Given the description of an element on the screen output the (x, y) to click on. 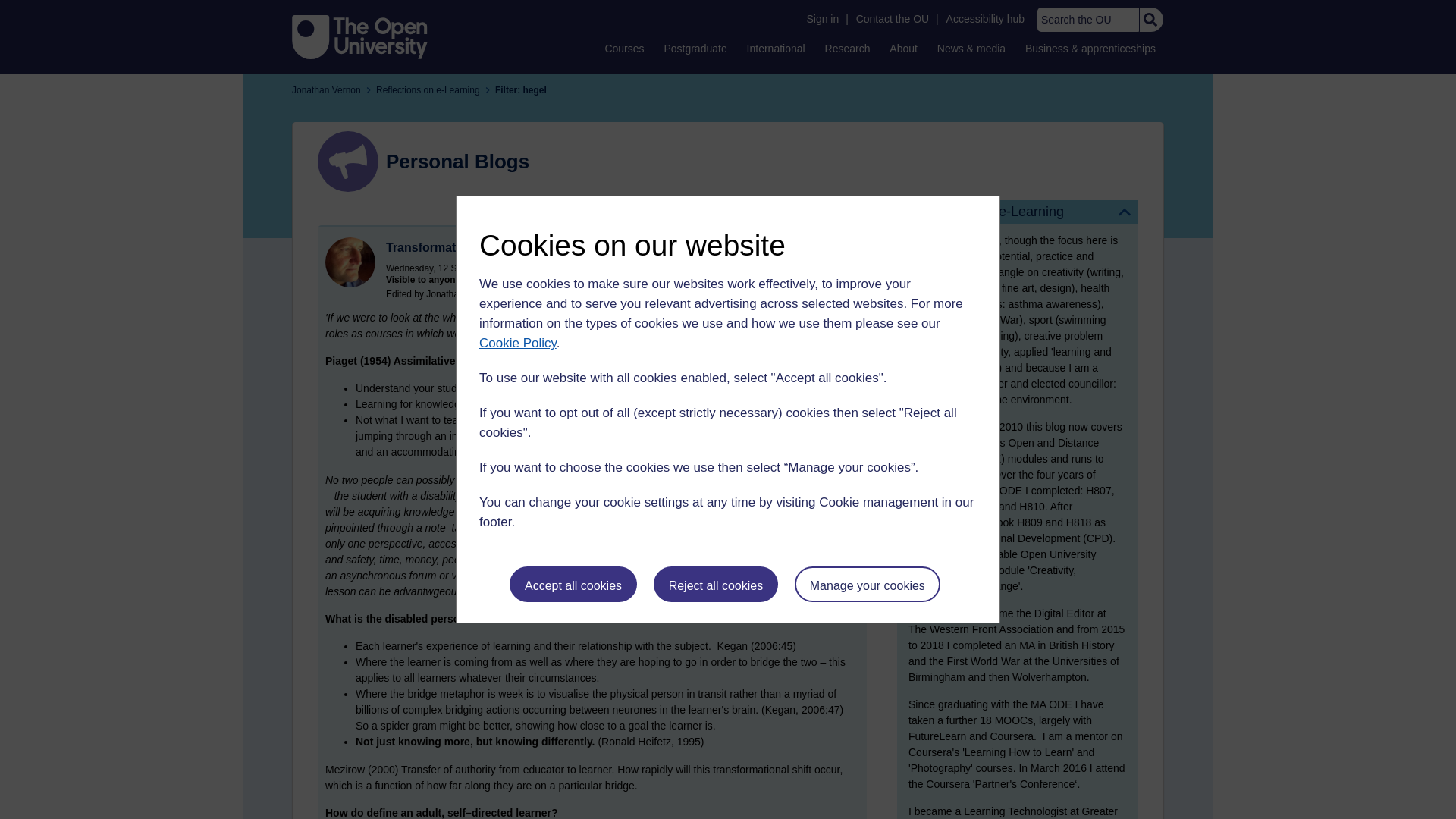
Reject all cookies (715, 583)
Search (1149, 19)
Research (847, 48)
The Open University (360, 36)
Accept all cookies (573, 583)
Manage your cookies (867, 583)
Reflections on e-Learning (1017, 211)
Sign in (822, 19)
Courses (623, 48)
Cookie Policy (517, 342)
